Given the description of an element on the screen output the (x, y) to click on. 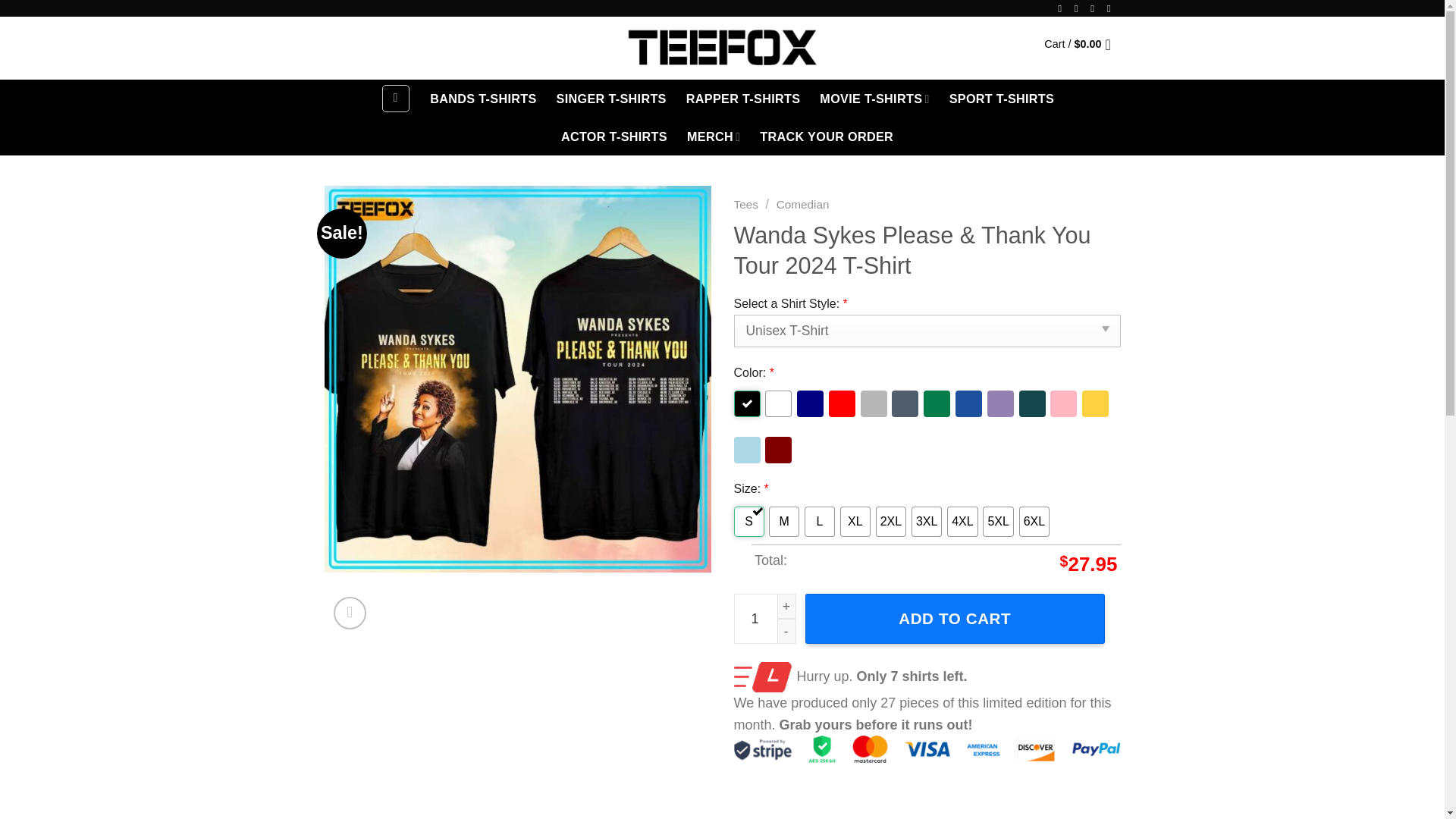
White (778, 403)
TRACK YOUR ORDER (826, 136)
Red (842, 403)
Send us an email (1112, 8)
ADD TO CART (955, 618)
SINGER T-SHIRTS (611, 98)
ACTOR T-SHIRTS (613, 136)
MOVIE T-SHIRTS (873, 98)
Black (746, 403)
MERCH (713, 136)
 Sport Grey (873, 403)
Follow on Instagram (1079, 8)
1 (764, 618)
Follow on X (1095, 8)
Cart (1081, 44)
